Given the description of an element on the screen output the (x, y) to click on. 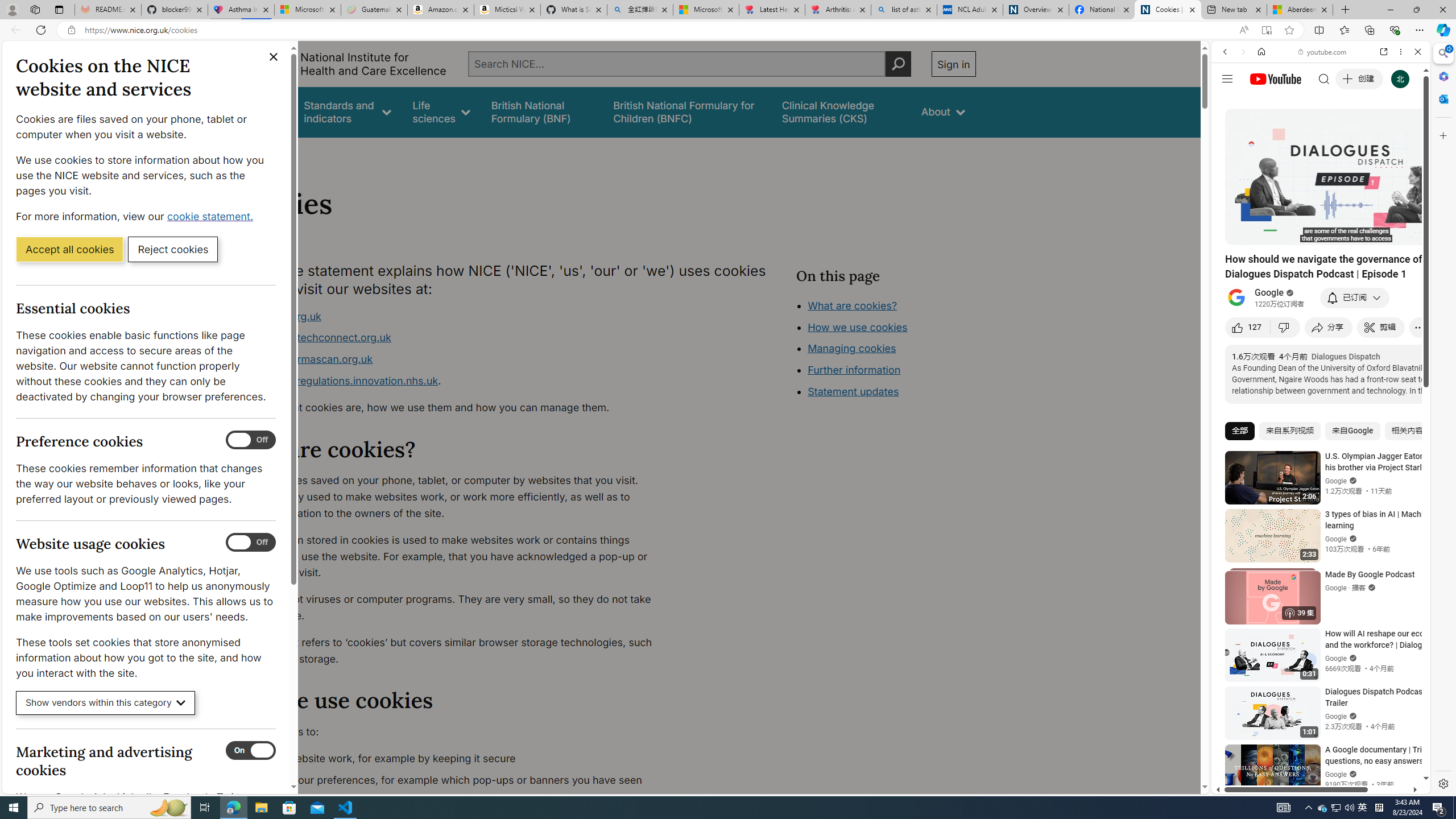
www.nice.org.uk (452, 316)
